Given the description of an element on the screen output the (x, y) to click on. 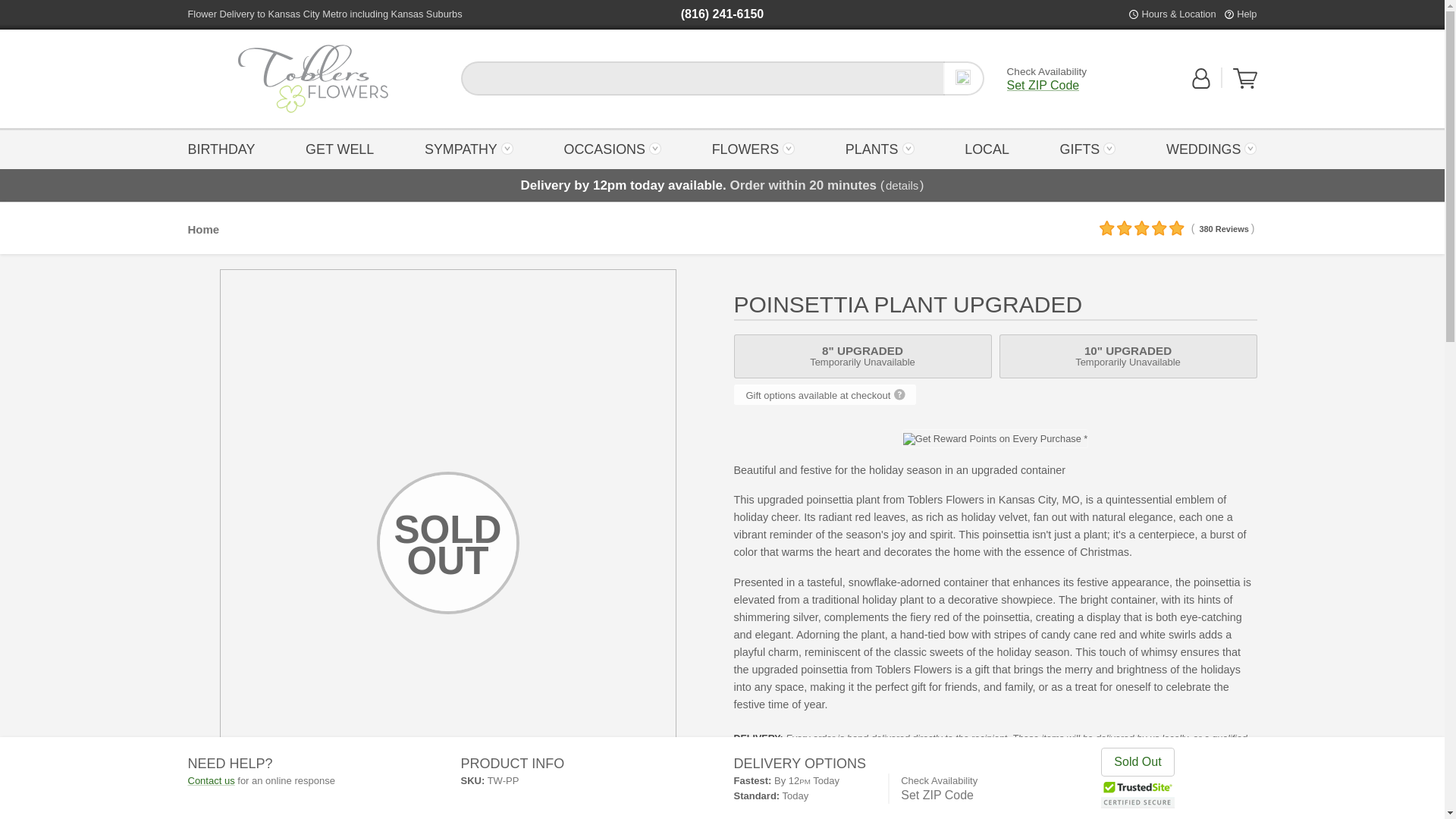
SYMPATHY (468, 147)
View Your Shopping Cart (312, 79)
BIRTHDAY (1245, 85)
GET WELL (225, 147)
Back to the Home Page (339, 147)
Set ZIP Code (312, 79)
View Your Shopping Cart (1043, 85)
Help (1245, 78)
Search (1246, 13)
OCCASIONS (963, 78)
The Blossom Shop Logo (611, 147)
